Given the description of an element on the screen output the (x, y) to click on. 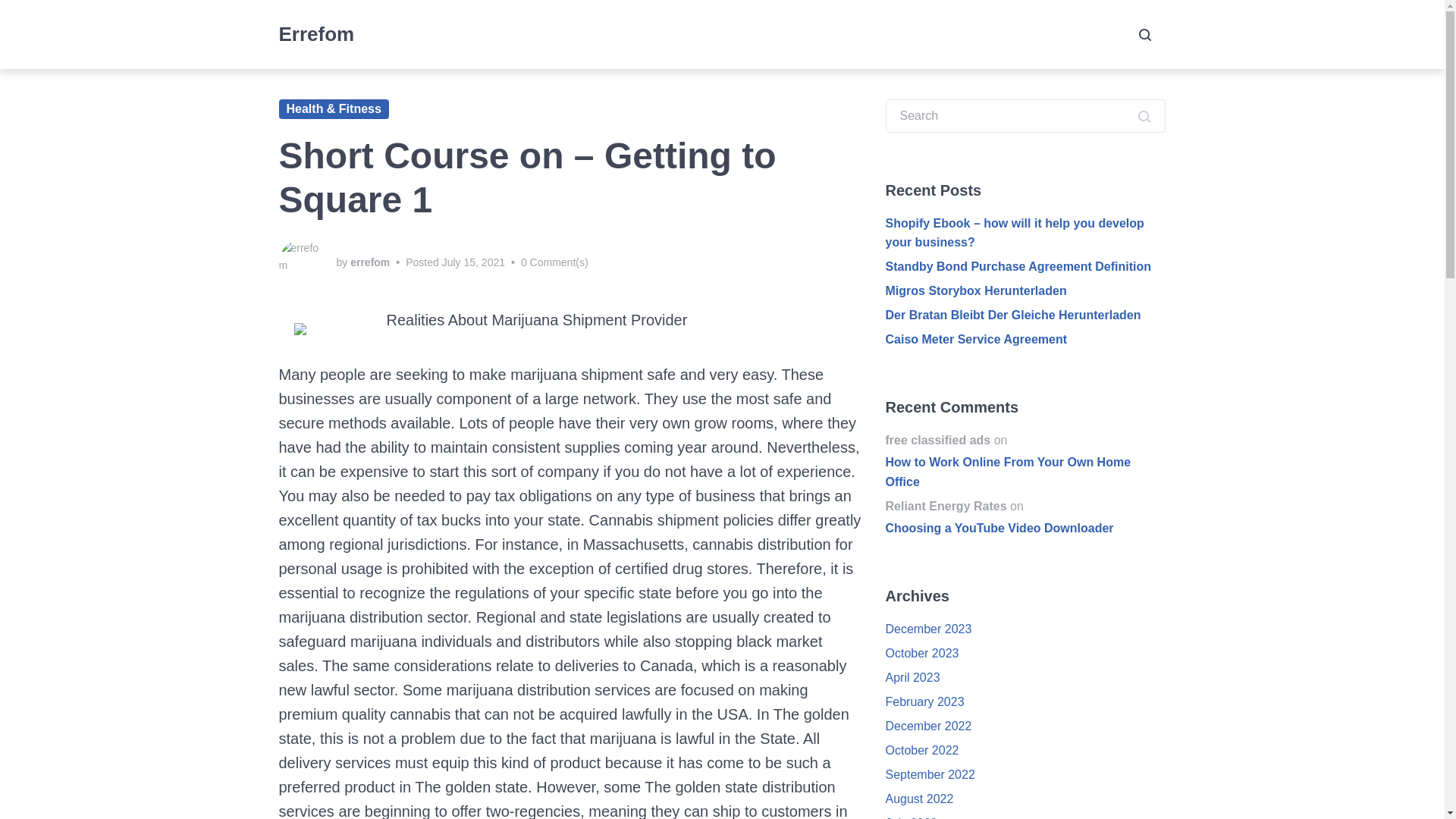
December 2023 (928, 628)
February 2023 (924, 701)
free classified ads (938, 440)
Choosing a YouTube Video Downloader (1025, 539)
September 2022 (930, 774)
October 2023 (922, 653)
October 2022 (922, 749)
Caiso Meter Service Agreement (976, 338)
Der Bratan Bleibt Der Gleiche Herunterladen (1013, 314)
April 2023 (912, 676)
